Given the description of an element on the screen output the (x, y) to click on. 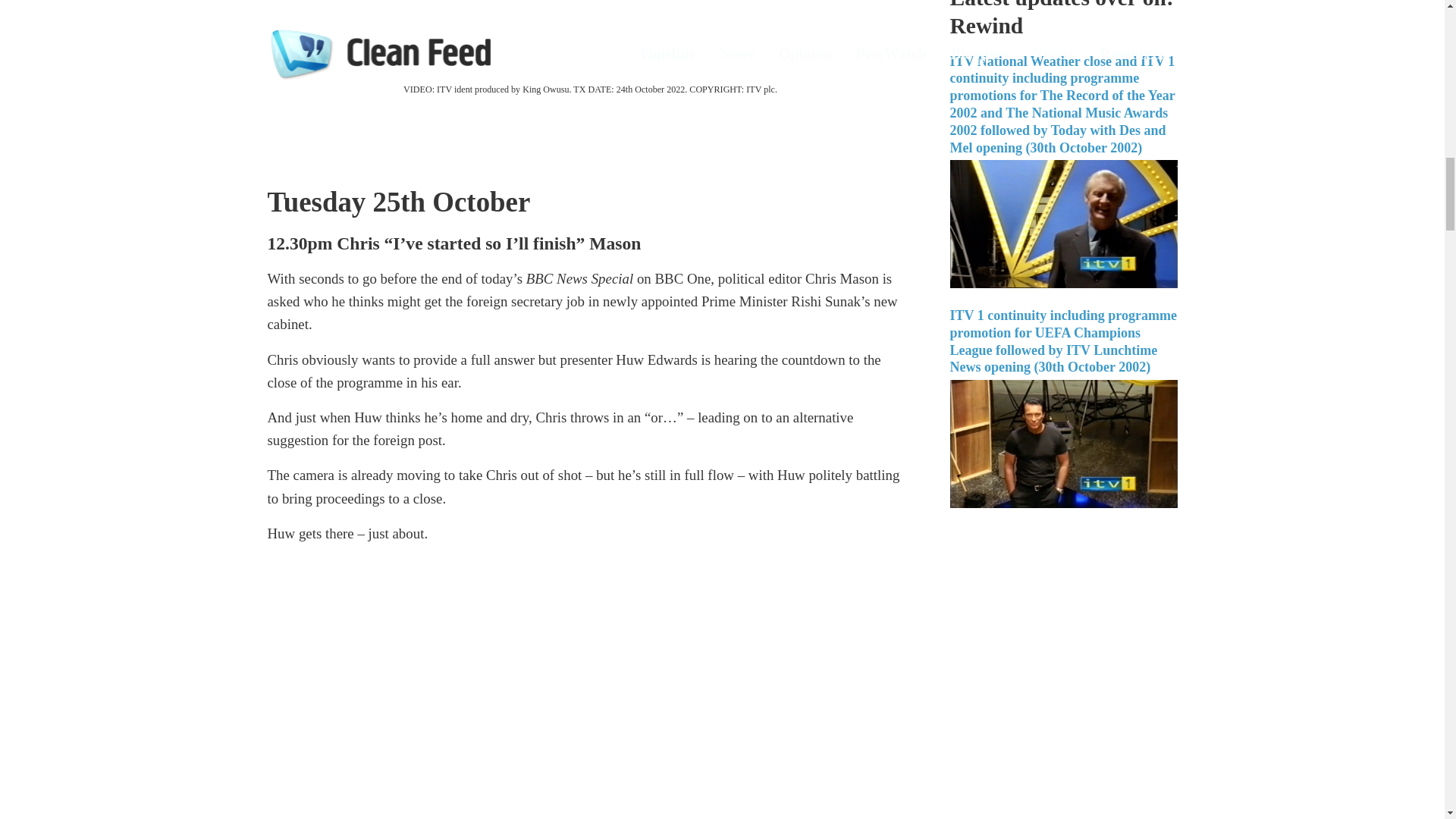
VideoPress Video Player (589, 38)
